Given the description of an element on the screen output the (x, y) to click on. 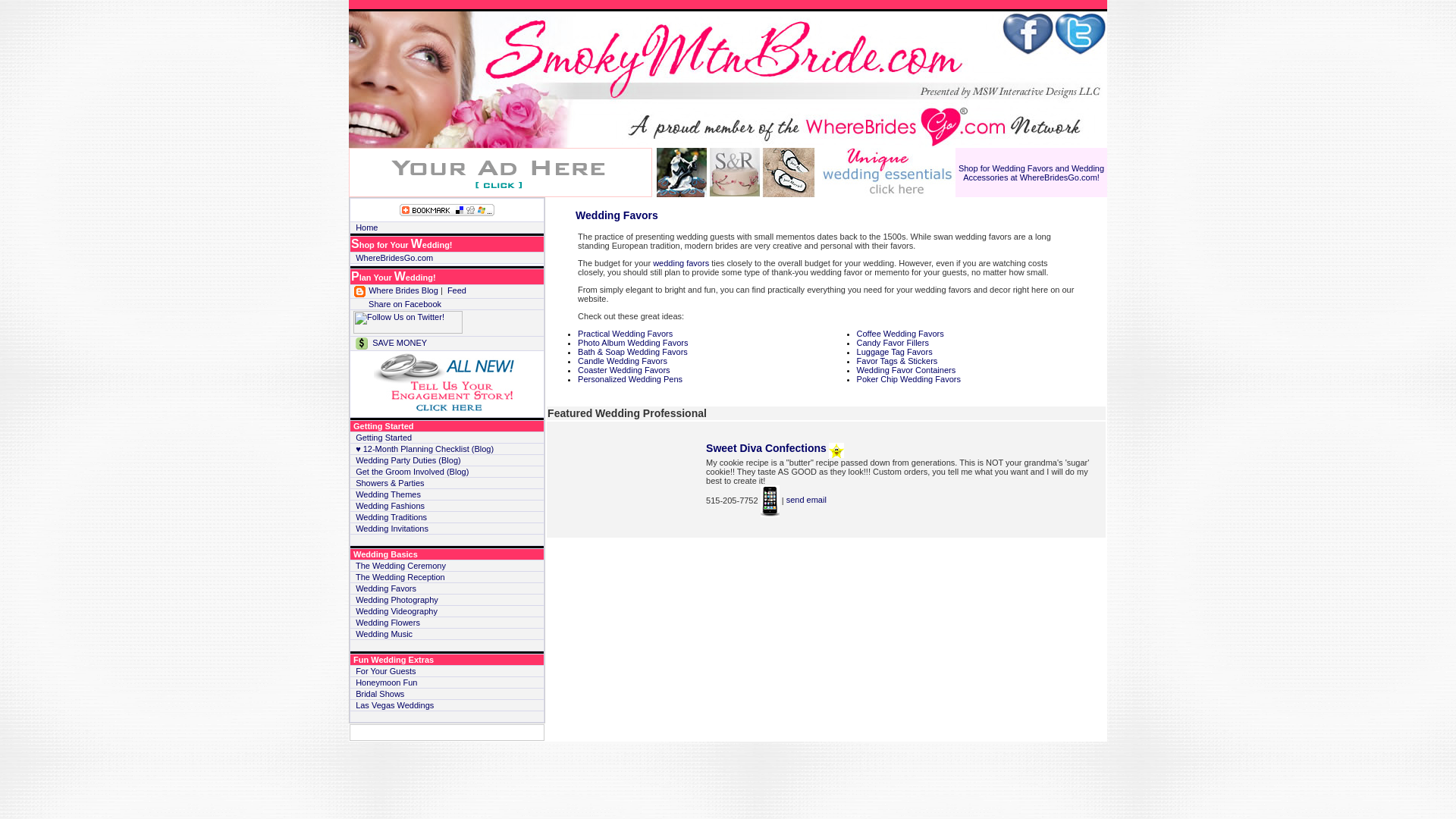
 SAVE MONEY (390, 342)
Wedding Favors (616, 215)
Wedding Themes (387, 493)
For Your Guests (385, 670)
Feed (455, 289)
Wedding Videography (396, 610)
The Wedding Reception (400, 576)
Honeymoon Fun (385, 682)
The Wedding Ceremony (400, 565)
Bridal Shows (379, 693)
